Given the description of an element on the screen output the (x, y) to click on. 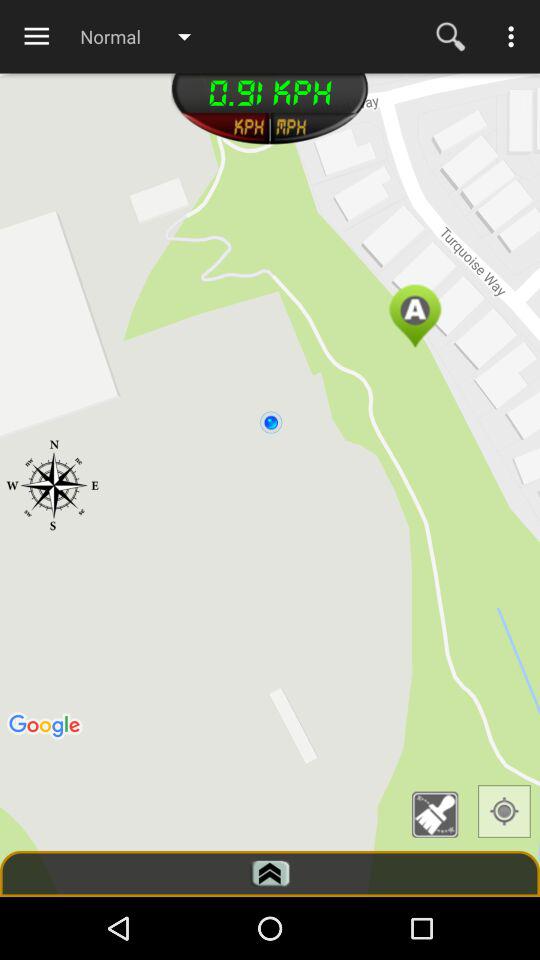
locate position (504, 811)
